Given the description of an element on the screen output the (x, y) to click on. 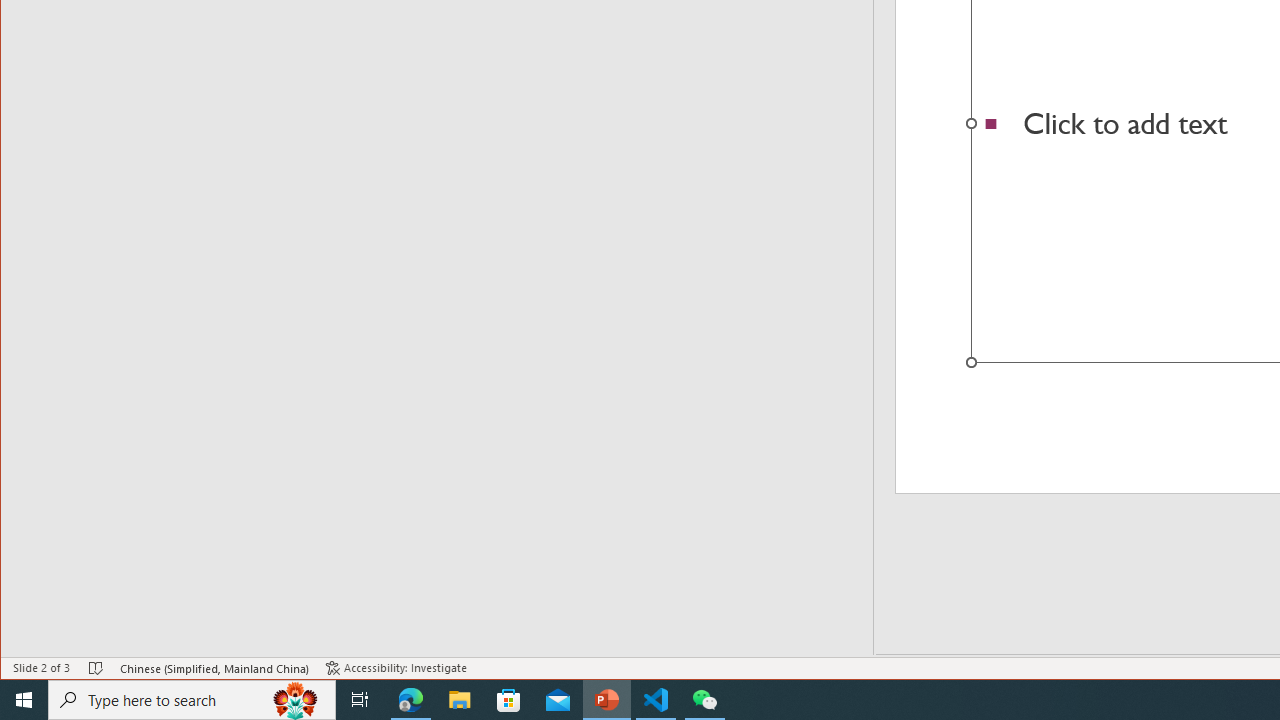
Microsoft Edge - 1 running window (411, 699)
WeChat - 1 running window (704, 699)
